Given the description of an element on the screen output the (x, y) to click on. 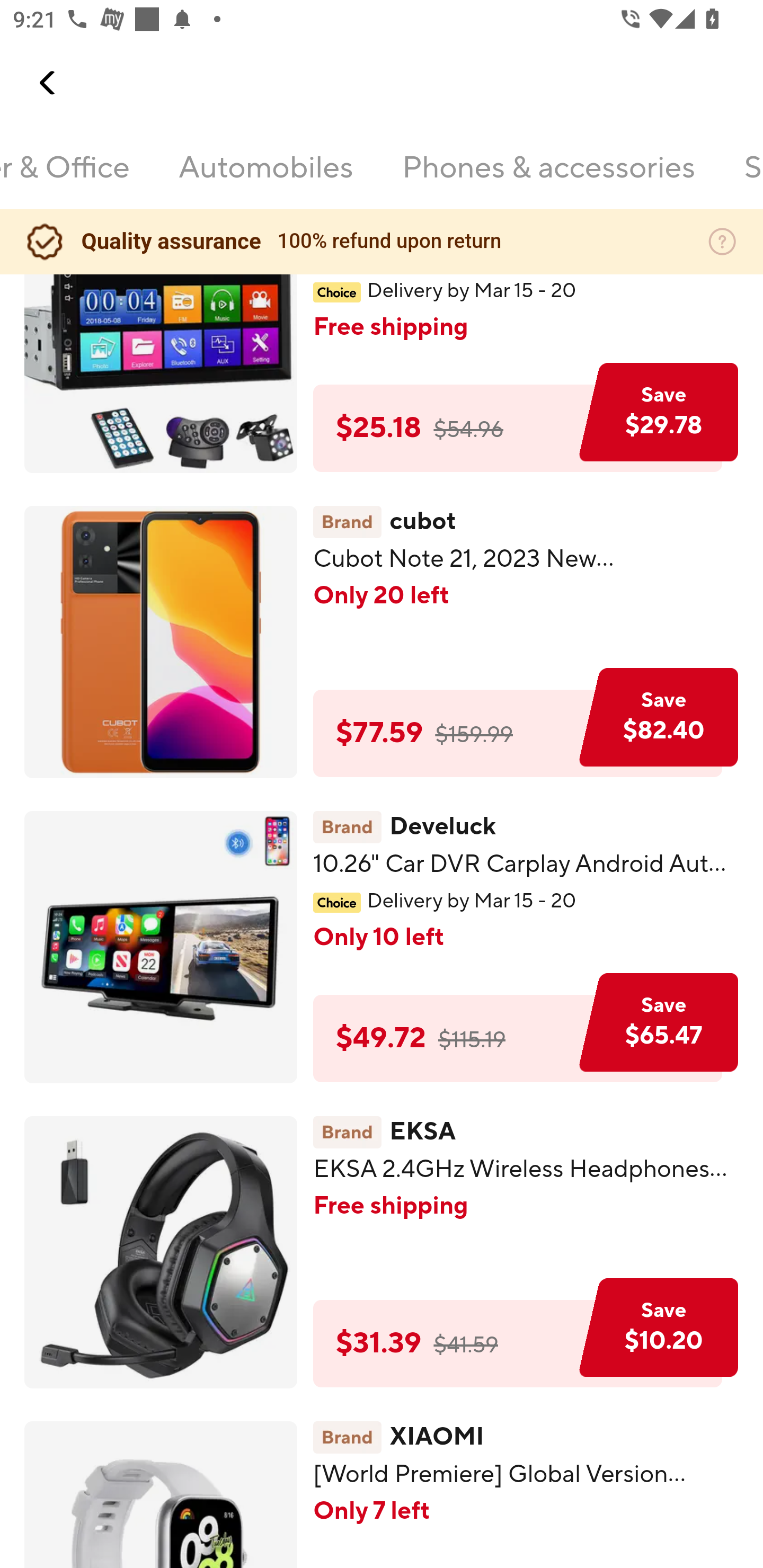
 (48, 82)
Computer & Office (65, 178)
Automobiles (265, 178)
Phones & accessories (547, 178)
